Given the description of an element on the screen output the (x, y) to click on. 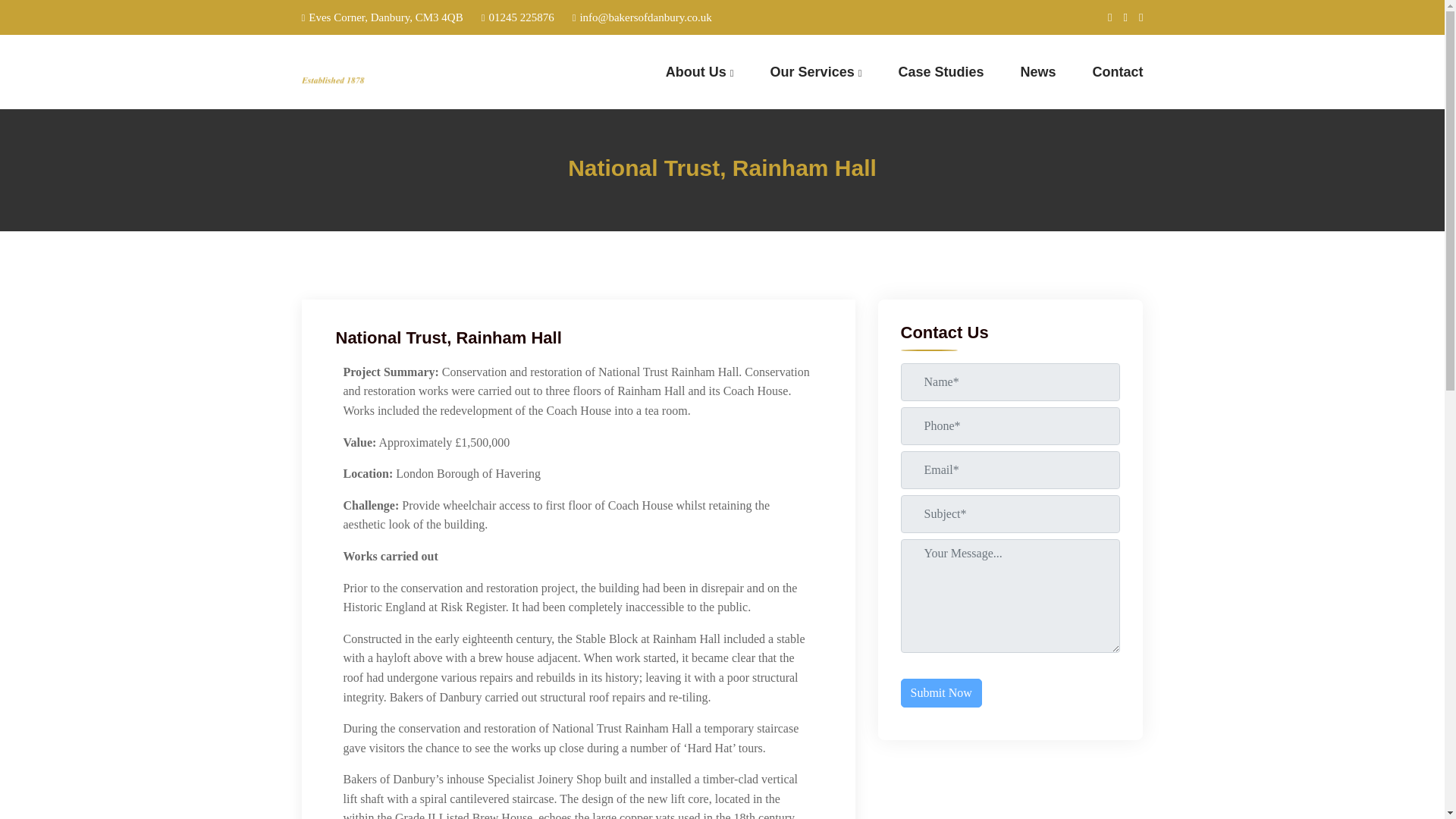
Bakers of Danbury Ltd (398, 71)
Case Studies (941, 72)
Contact (1117, 72)
Our Services (815, 72)
01245 225876 (517, 17)
About Us (699, 72)
News (1037, 72)
